Given the description of an element on the screen output the (x, y) to click on. 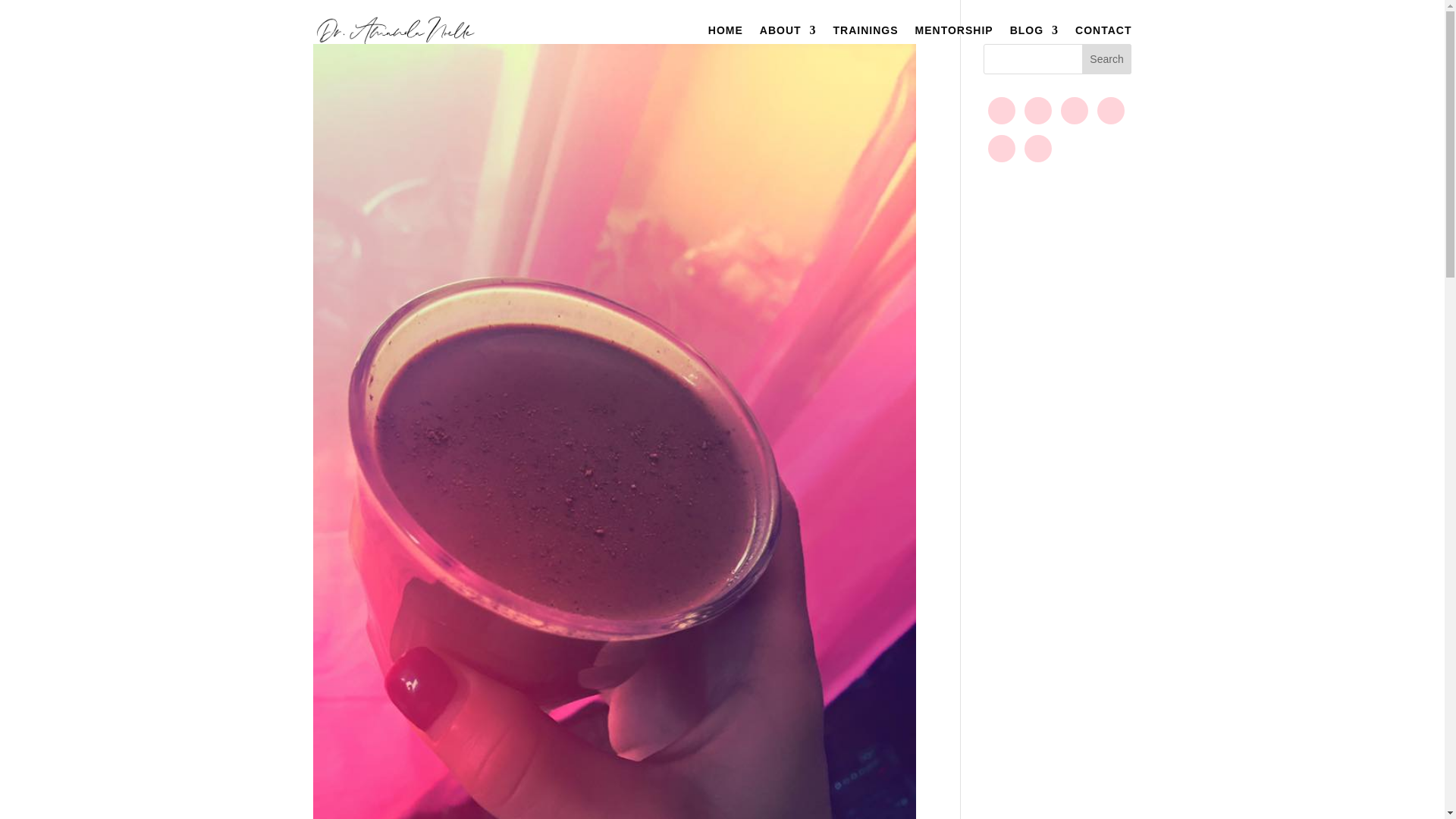
CONTACT (1103, 42)
Search (1106, 59)
ABOUT (788, 42)
BLOG (1034, 42)
HOME (724, 42)
TRAININGS (865, 42)
MENTORSHIP (953, 42)
Search (1106, 59)
